Given the description of an element on the screen output the (x, y) to click on. 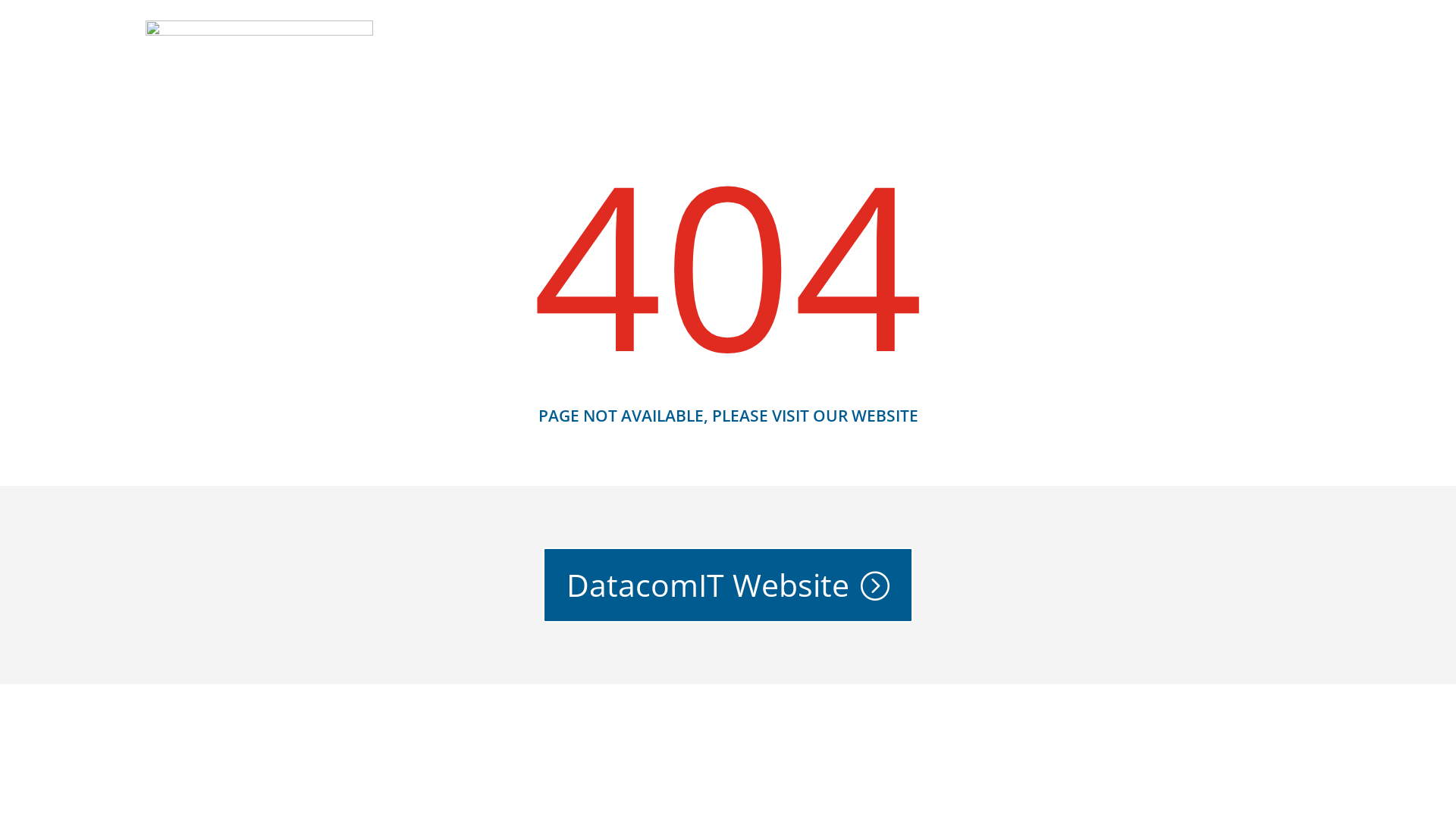
DatacomIT Website Element type: text (727, 584)
DatacomIT (The Future of History) Logo (Final) Element type: hover (259, 64)
